Given the description of an element on the screen output the (x, y) to click on. 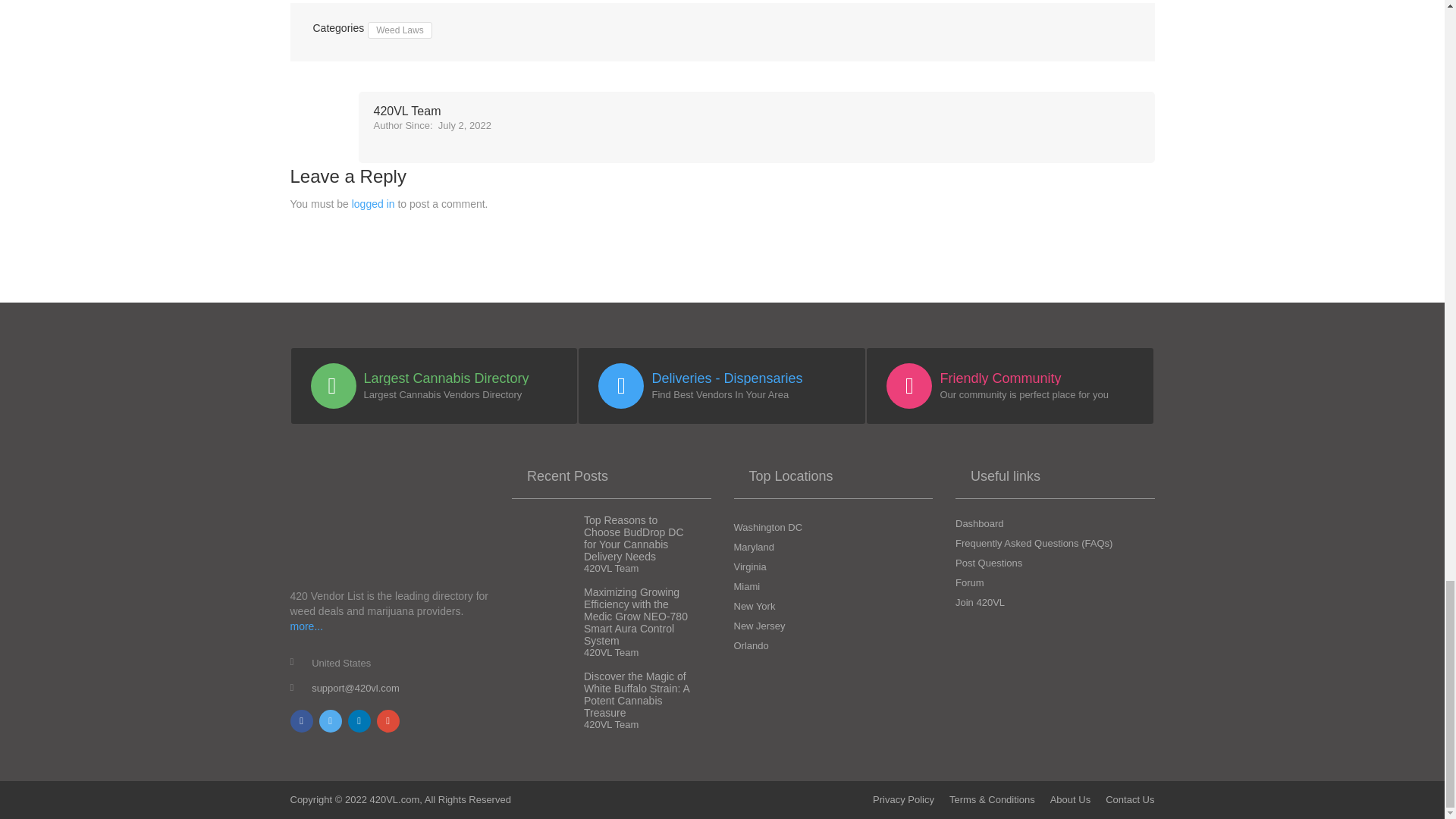
420VL Team (431, 111)
Weed Laws (399, 30)
logged in (373, 203)
